Given the description of an element on the screen output the (x, y) to click on. 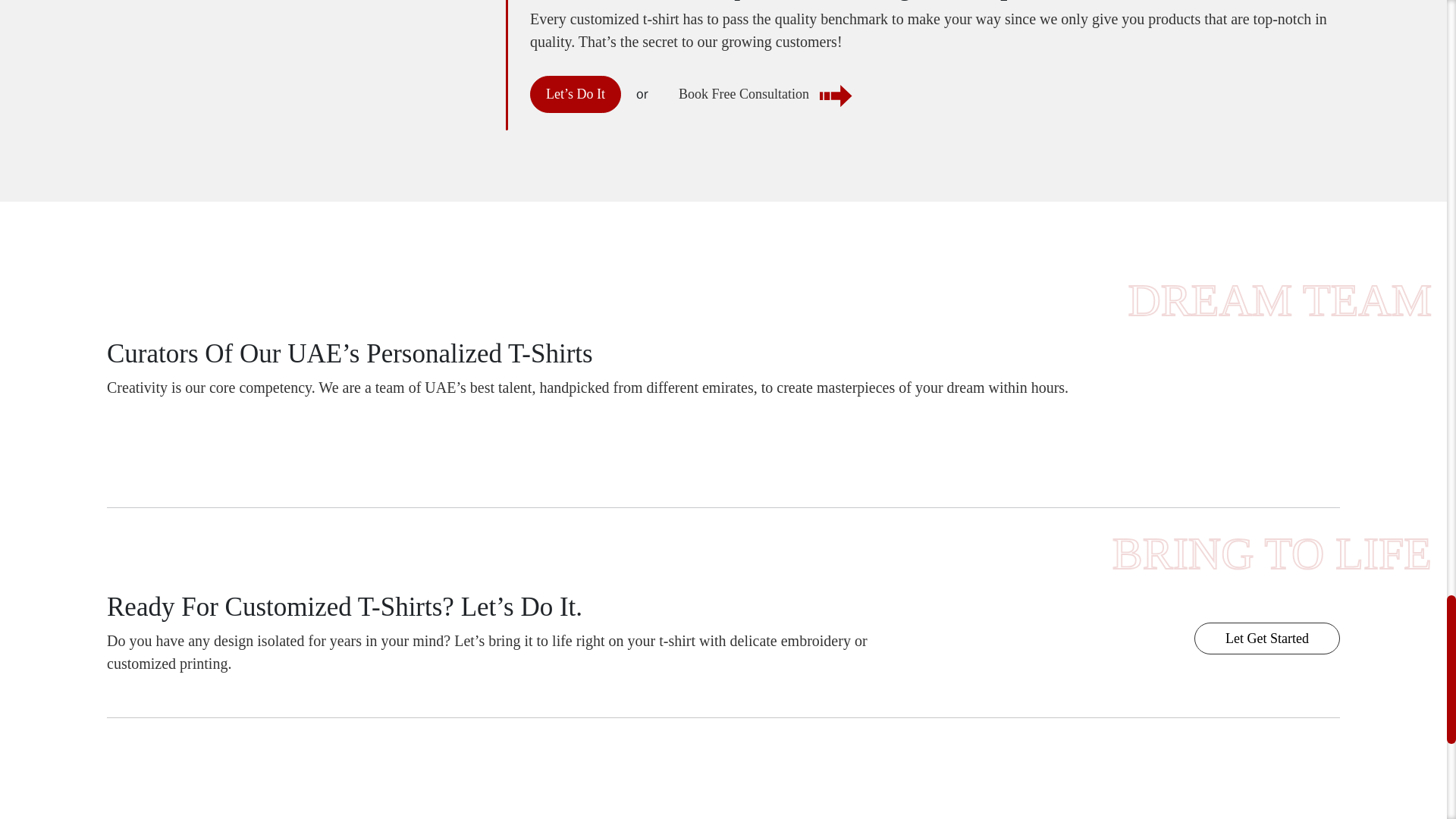
Let Get Started (1266, 638)
Book Free Consultation (763, 93)
